Given the description of an element on the screen output the (x, y) to click on. 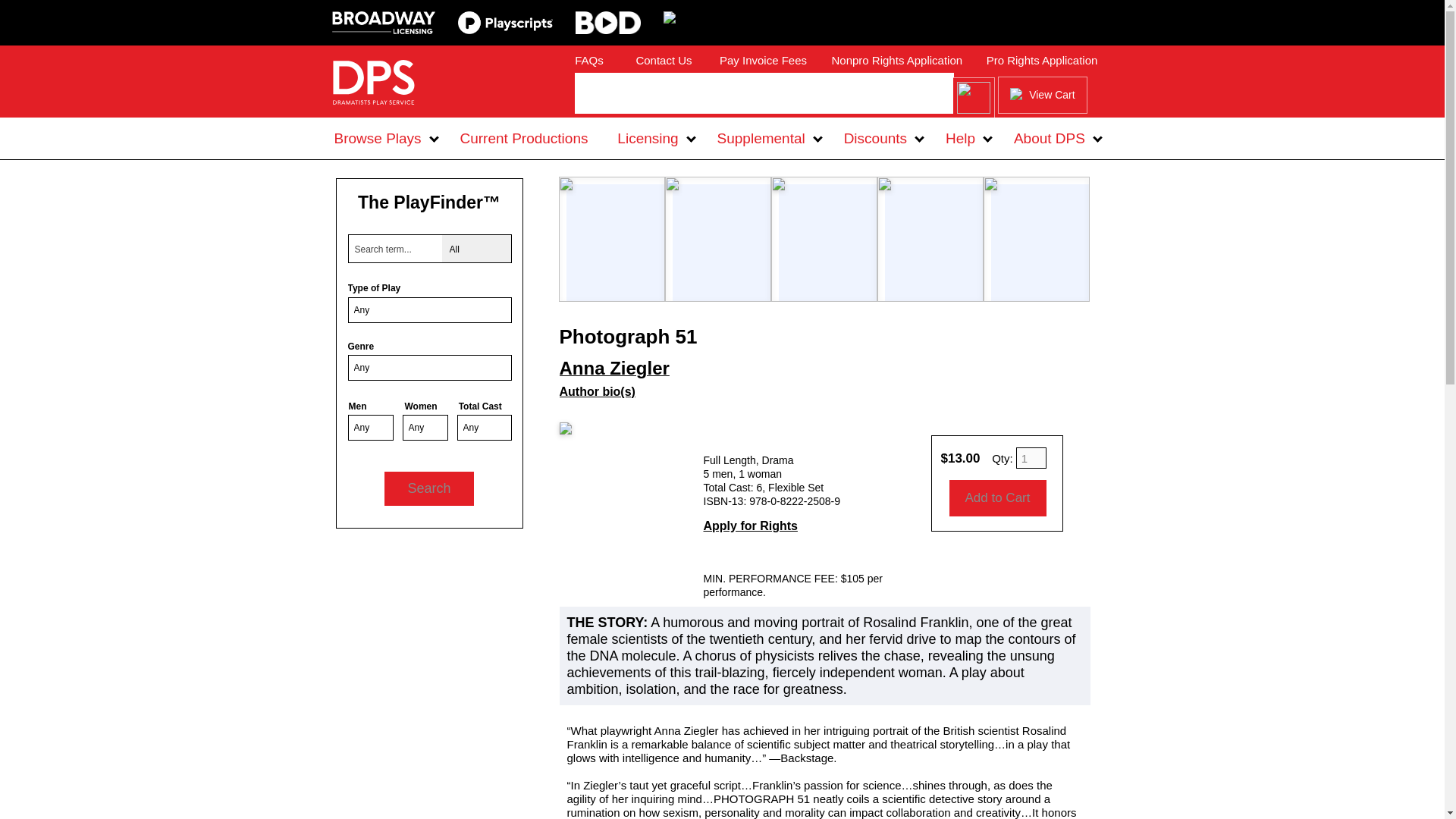
1 (1031, 457)
Contact Us (662, 60)
Add to Cart (997, 497)
Pro Rights Application (1041, 60)
Nonpro Rights Application (896, 60)
View Cart (1041, 94)
Search (428, 488)
Pay Invoice Fees (762, 60)
FAQs (589, 60)
